Given the description of an element on the screen output the (x, y) to click on. 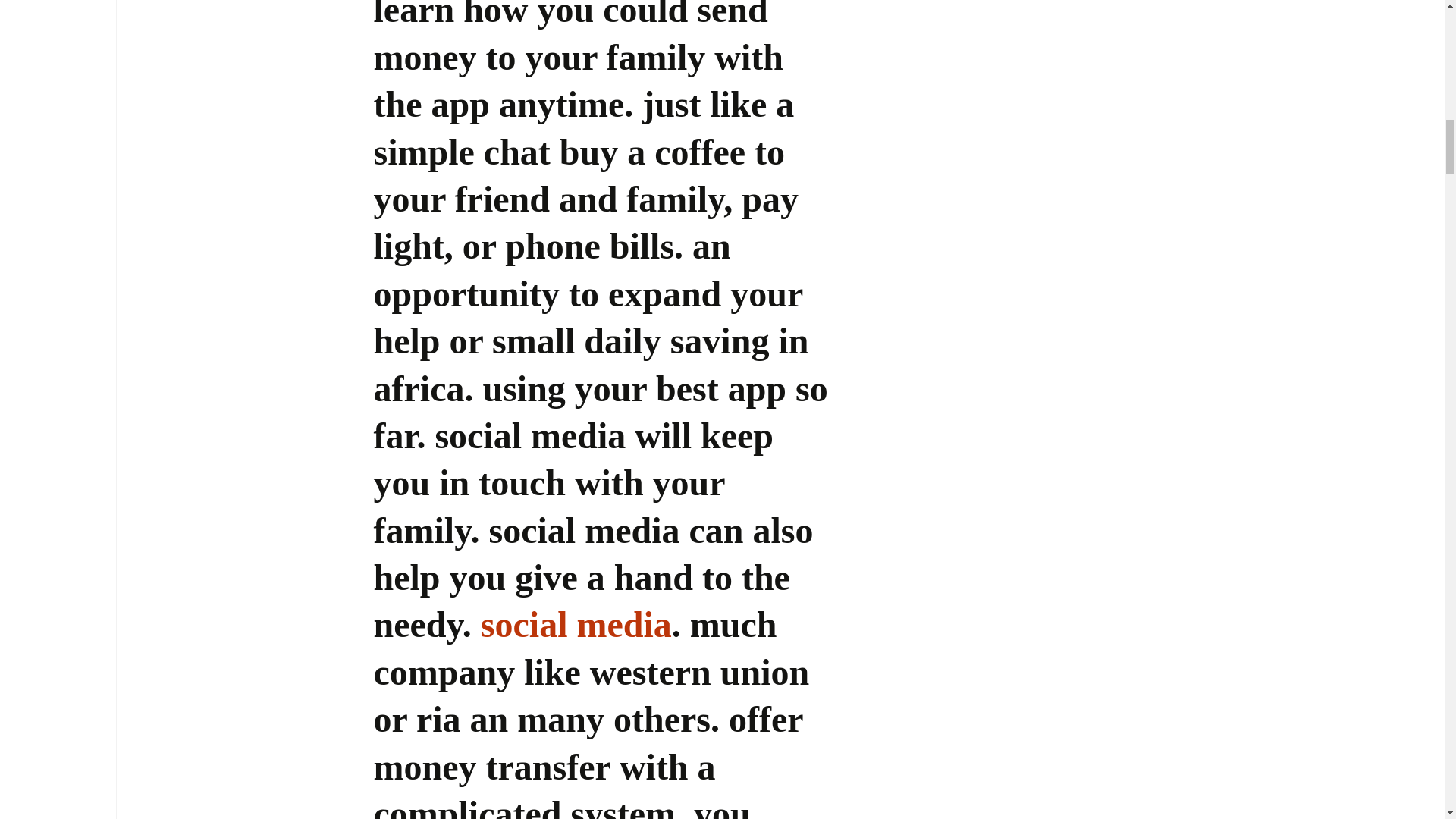
social media (575, 624)
